Given the description of an element on the screen output the (x, y) to click on. 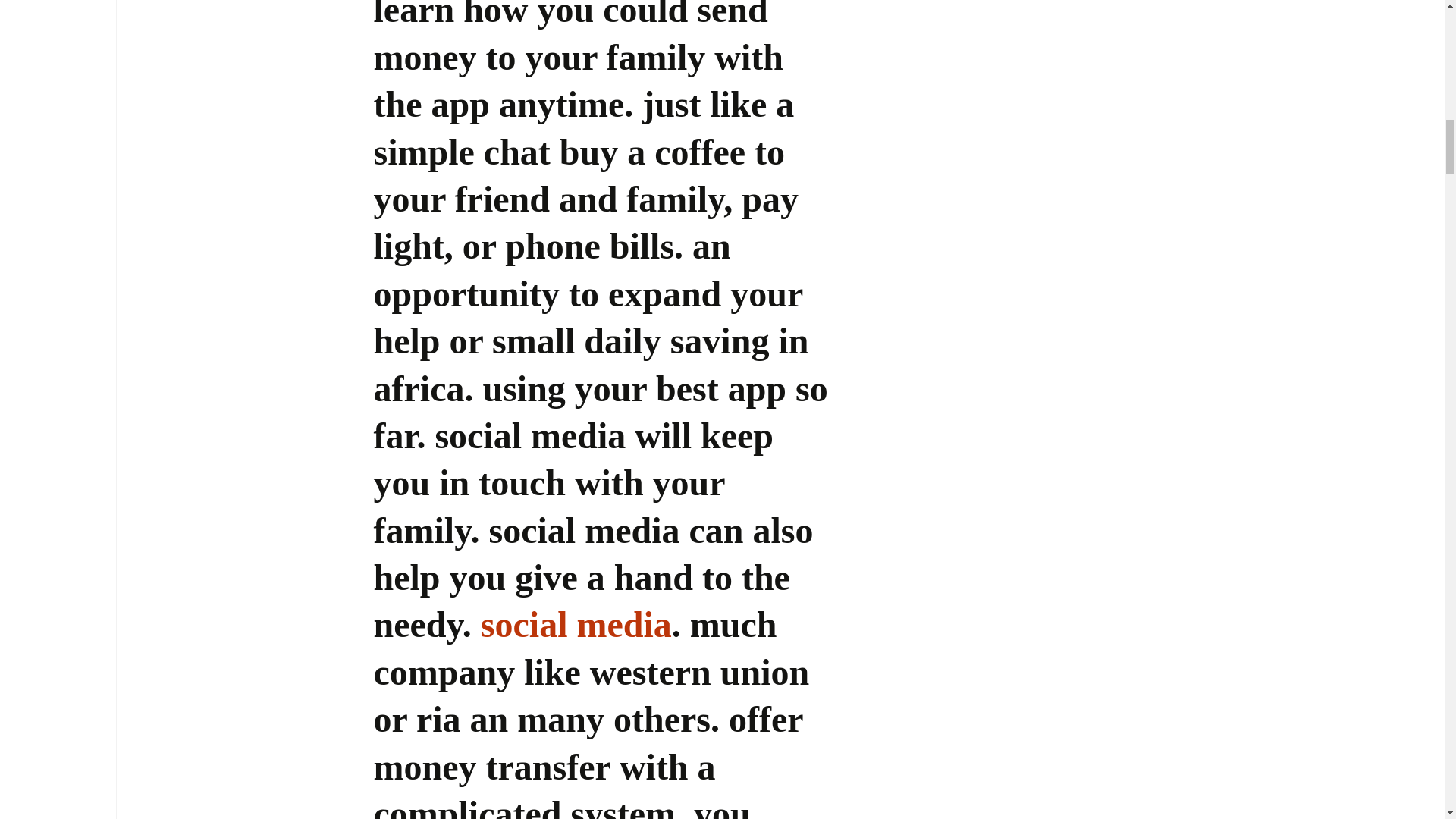
social media (575, 624)
